Given the description of an element on the screen output the (x, y) to click on. 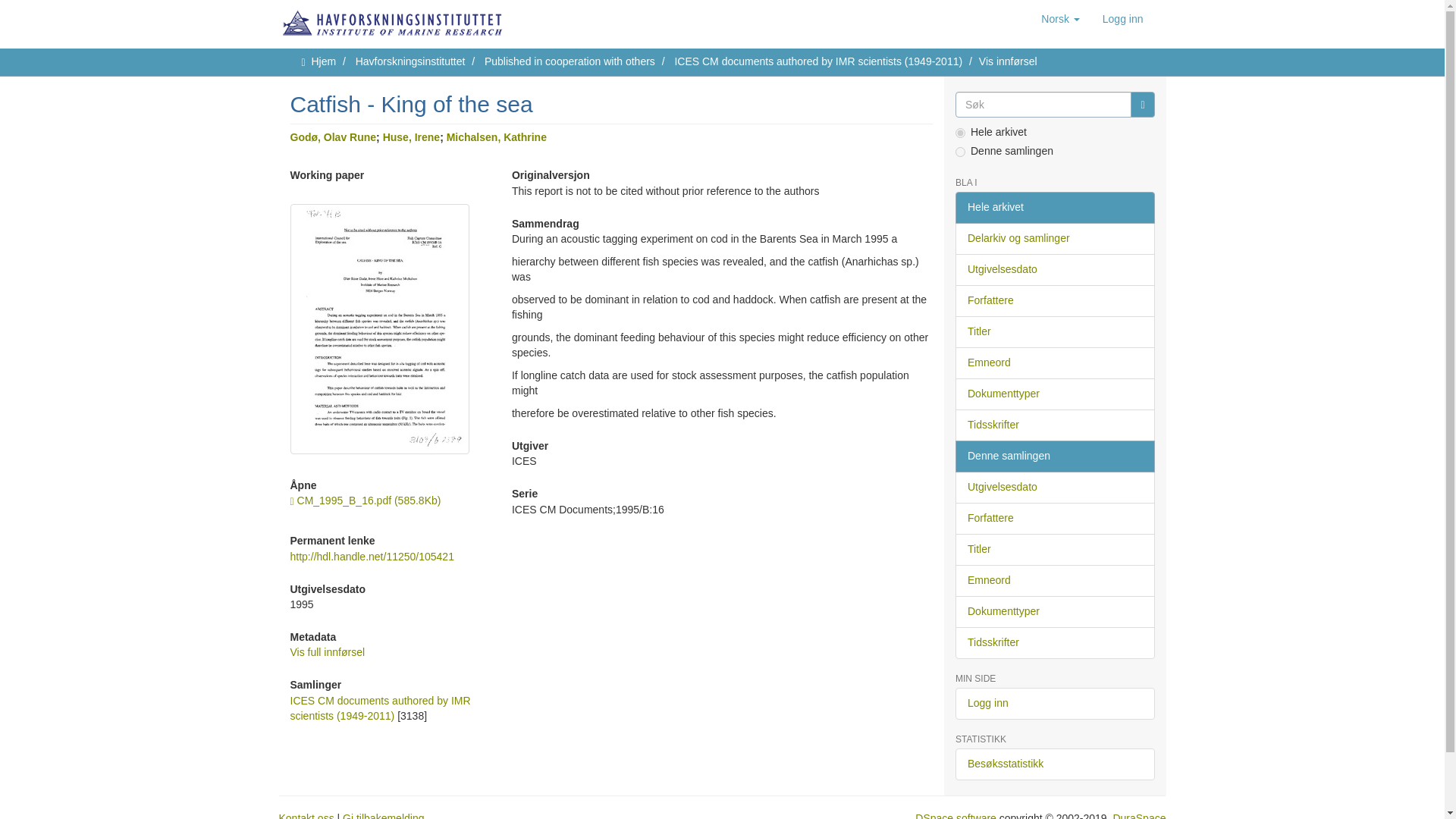
Michalsen, Kathrine (496, 137)
Norsk  (1059, 18)
Logg inn (1122, 18)
Utgivelsesdato (1054, 269)
Forfattere (1054, 300)
Published in cooperation with others (569, 61)
Delarkiv og samlinger (1054, 238)
Havforskningsinstituttet (410, 61)
Hjem (323, 61)
Hele arkivet (1054, 207)
Huse, Irene (410, 137)
